Given the description of an element on the screen output the (x, y) to click on. 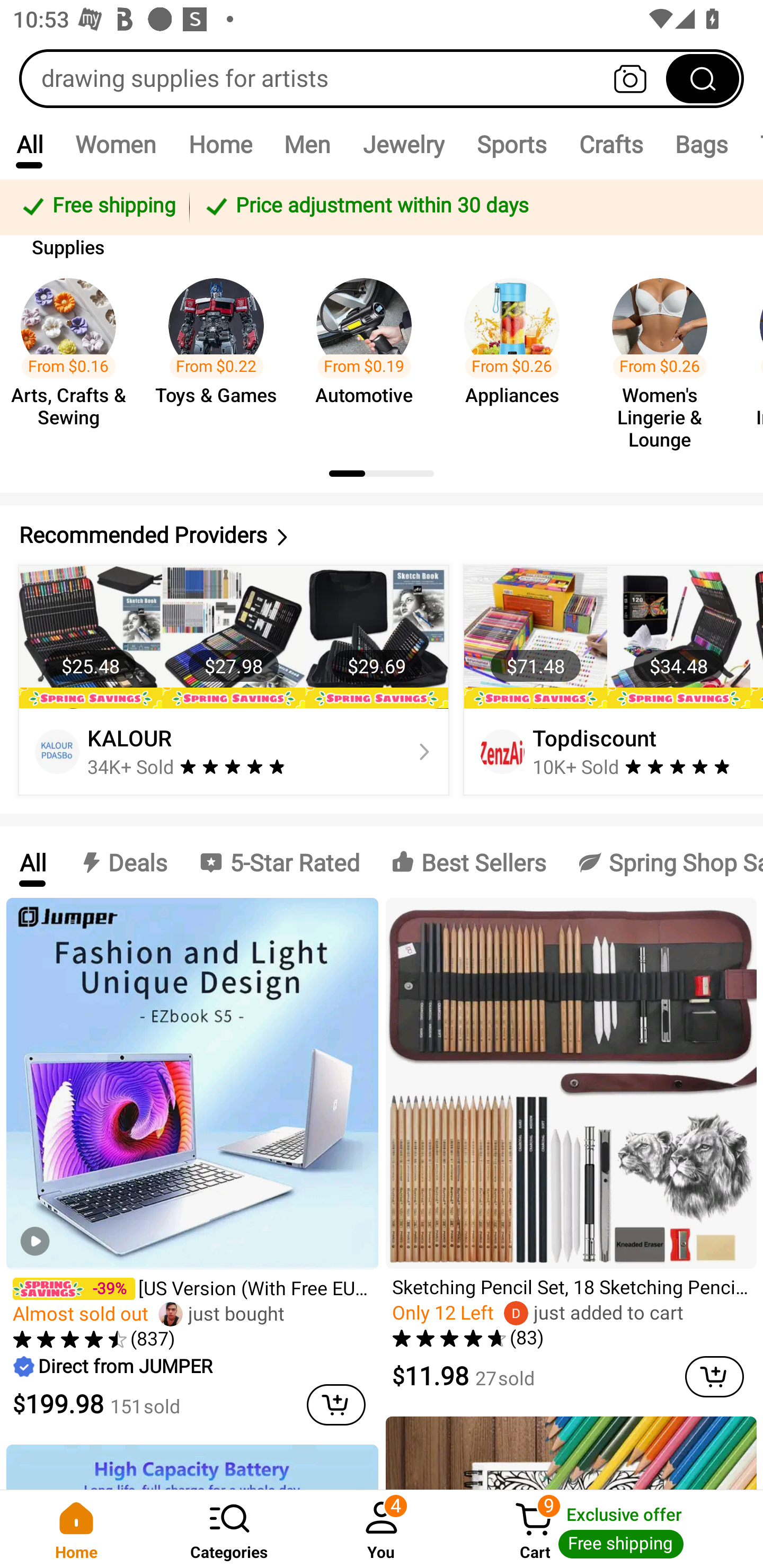
drawing supplies for artists (381, 78)
All (29, 144)
Women (115, 144)
Home (219, 144)
Men (306, 144)
Jewelry (403, 144)
Sports (511, 144)
Crafts (611, 144)
Bags (701, 144)
Free shipping (97, 206)
Price adjustment within 30 days (472, 206)
From $0.16 Arts, Crafts & Sewing (74, 354)
From $0.22 Toys & Games (222, 354)
From $0.19 Automotive (369, 354)
From $0.26 Appliances (517, 354)
From $0.26 Women's Lingerie & Lounge (665, 354)
Recommended Providers (381, 535)
$25.48 $27.98 $29.69 KALOUR 34K+ Sold (233, 680)
$71.48 $34.48 Topdiscount 10K+ Sold (610, 680)
All (32, 862)
Deals Deals Deals (122, 862)
5-Star Rated 5-Star Rated 5-Star Rated (279, 862)
Best Sellers Best Sellers Best Sellers (468, 862)
Spring Shop Save Spring Shop Save Spring Shop Save (662, 862)
cart delete (714, 1376)
cart delete (335, 1404)
Home (76, 1528)
Categories (228, 1528)
You 4 You (381, 1528)
Cart 9 Cart Exclusive offer (610, 1528)
